Given the description of an element on the screen output the (x, y) to click on. 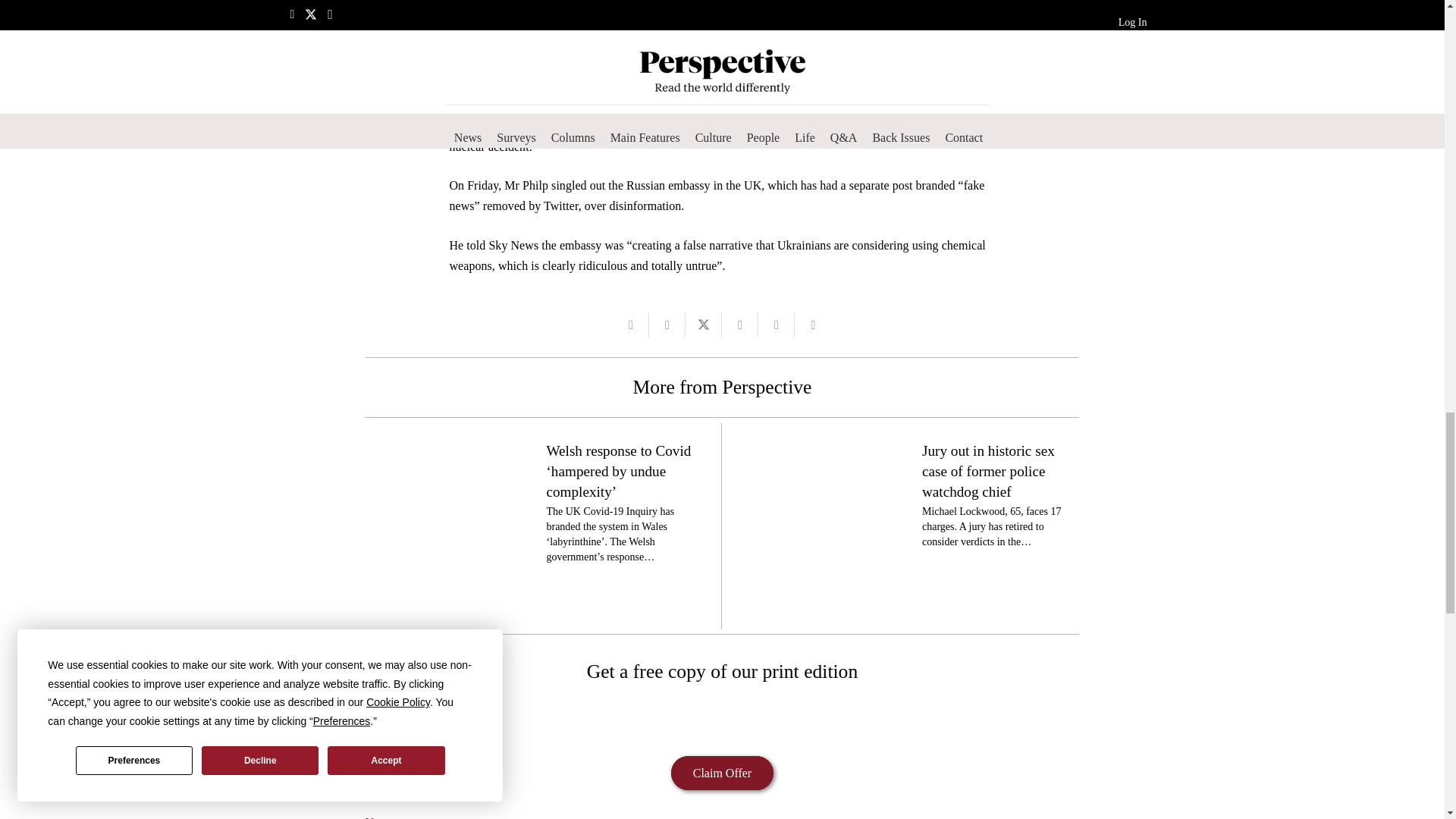
Tweet this (703, 324)
Share this (667, 324)
Share this (812, 324)
Share this (740, 324)
Claim Offer (722, 772)
Share this (776, 324)
Email this (630, 324)
News (378, 817)
